Given the description of an element on the screen output the (x, y) to click on. 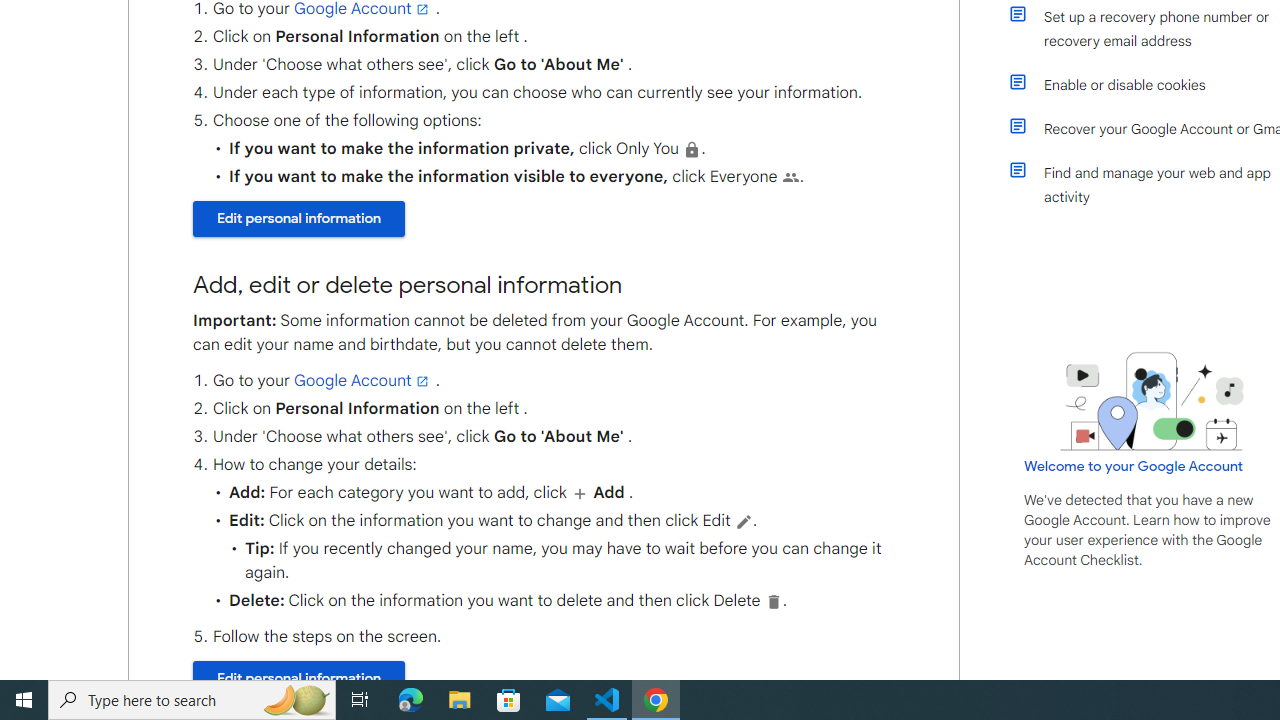
Google Account (363, 380)
People (790, 177)
To process (742, 521)
To delete (773, 601)
Add User (579, 493)
Private, tap to edit who can see this data (692, 149)
Welcome to your Google Account (1134, 466)
Edit personal information (298, 678)
Learning Center home page image (1152, 401)
